Given the description of an element on the screen output the (x, y) to click on. 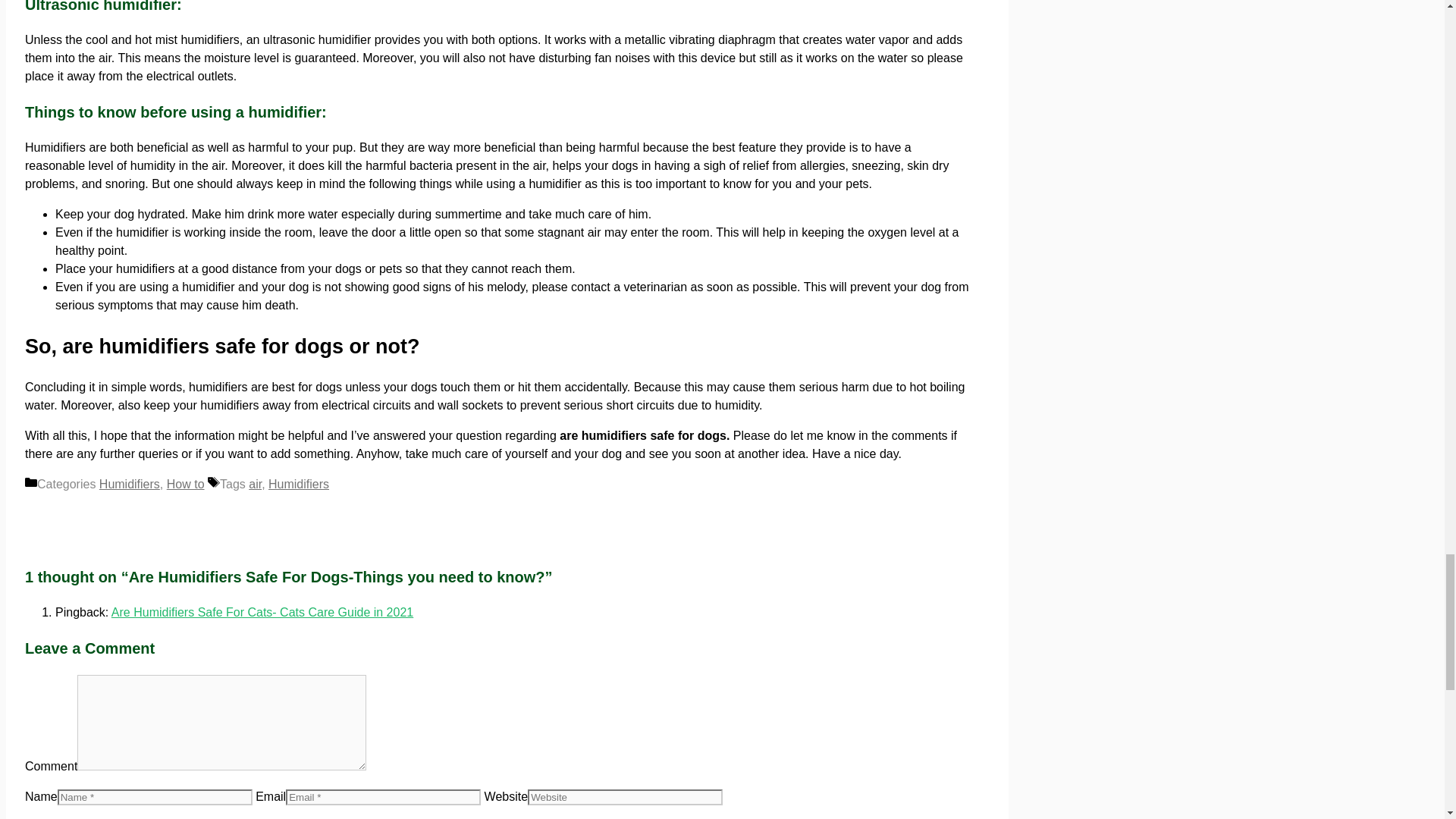
Are Humidifiers Safe For Cats- Cats Care Guide in 2021 (262, 612)
Humidifiers (298, 483)
How to (186, 483)
air (255, 483)
Humidifiers (129, 483)
